Given the description of an element on the screen output the (x, y) to click on. 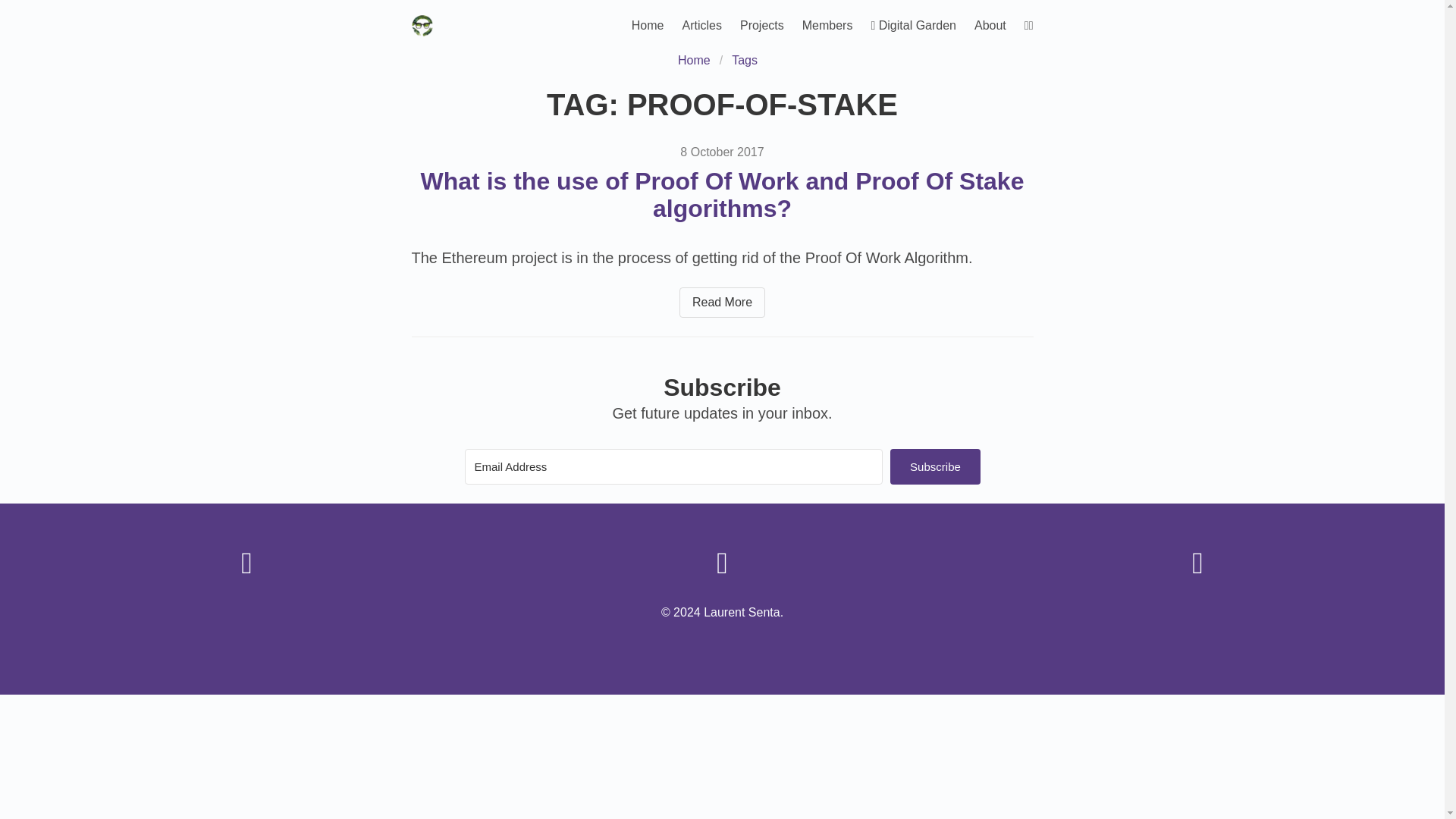
Articles page (701, 25)
Read More (722, 302)
Home (698, 60)
Articles (701, 25)
Projects page (761, 25)
Tags (744, 60)
About page (989, 25)
Home page (647, 25)
Home (647, 25)
Members page (827, 25)
Subscribe (934, 466)
Members (827, 25)
Projects (761, 25)
About (989, 25)
